Given the description of an element on the screen output the (x, y) to click on. 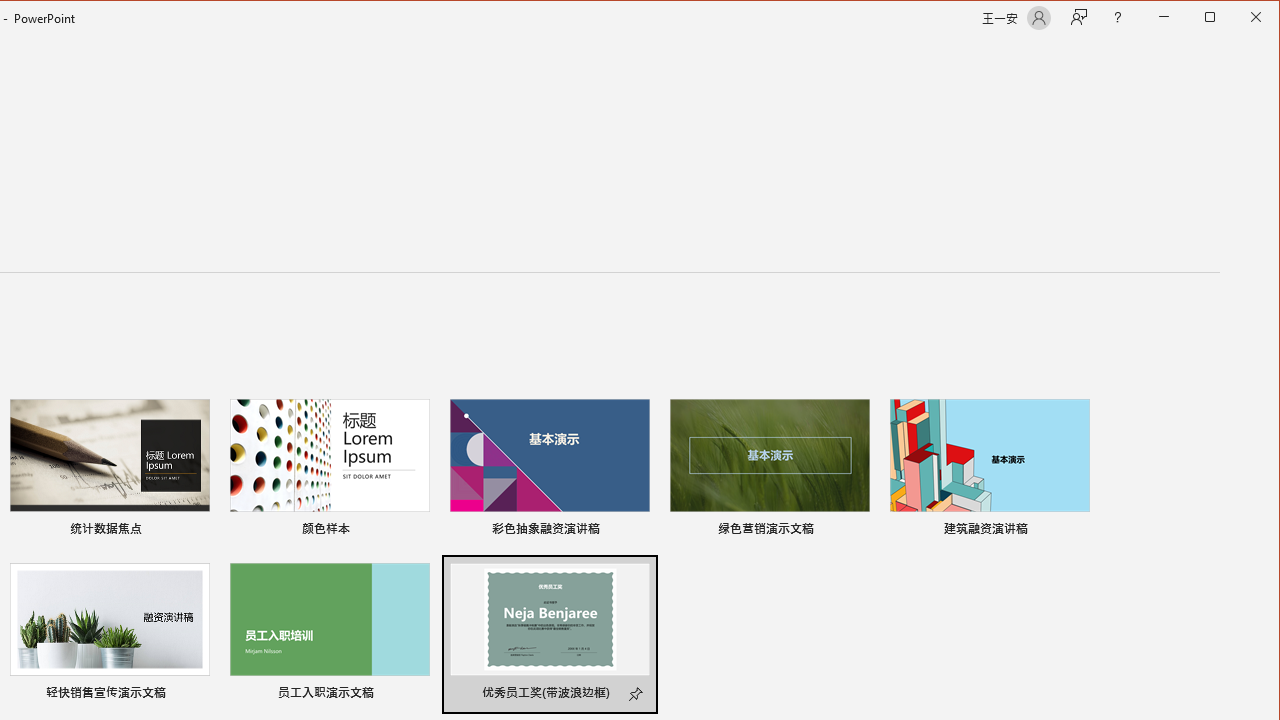
Pin to list (637, 695)
Maximize (1238, 18)
